Given the description of an element on the screen output the (x, y) to click on. 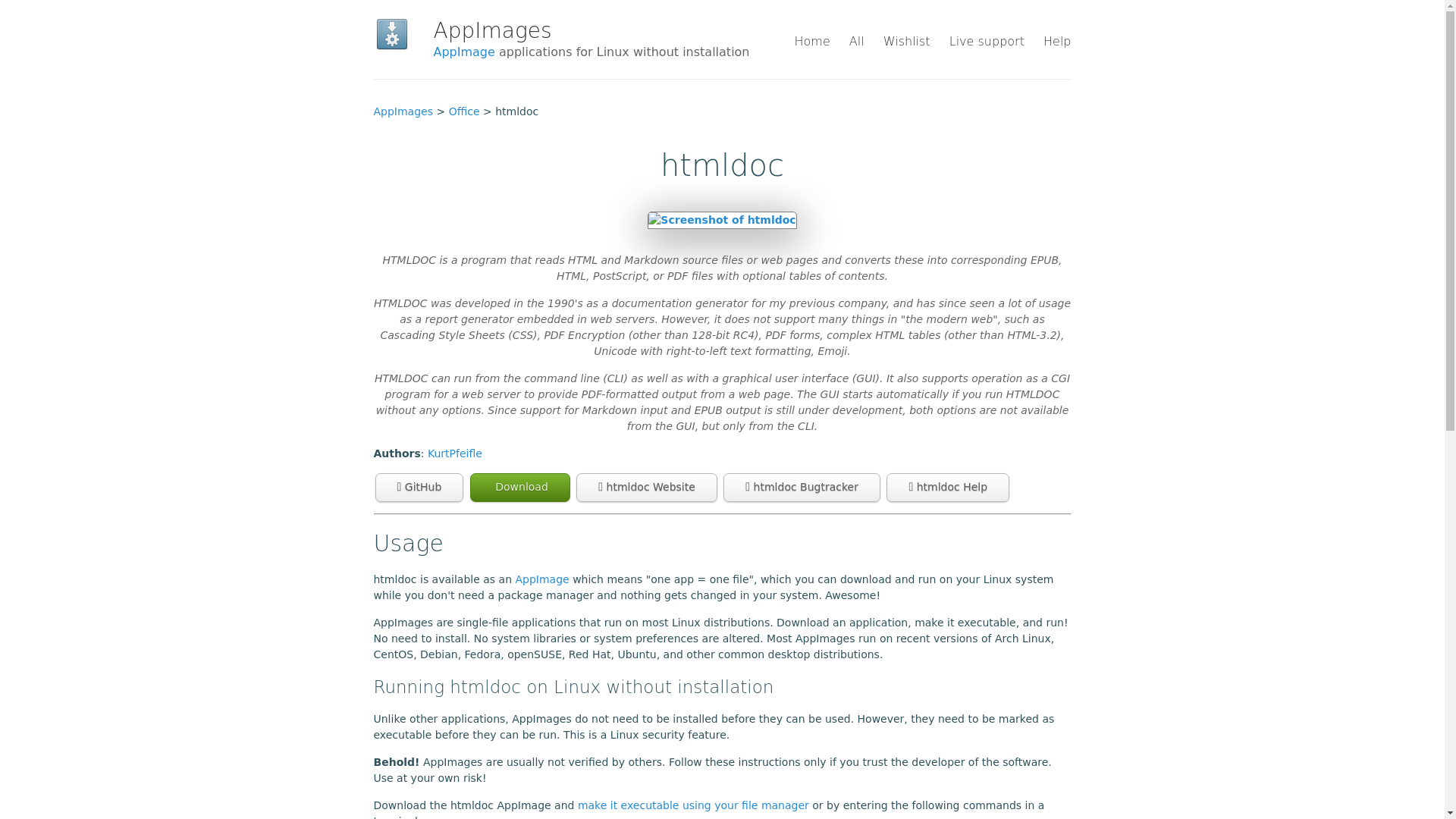
All (856, 41)
Office (464, 111)
Live support (987, 41)
Download (520, 487)
htmldoc Website (646, 487)
AppImage (464, 51)
Wishlist (906, 41)
GitHub (418, 487)
KurtPfeifle (454, 453)
make it executable using your file manager (693, 805)
